Given the description of an element on the screen output the (x, y) to click on. 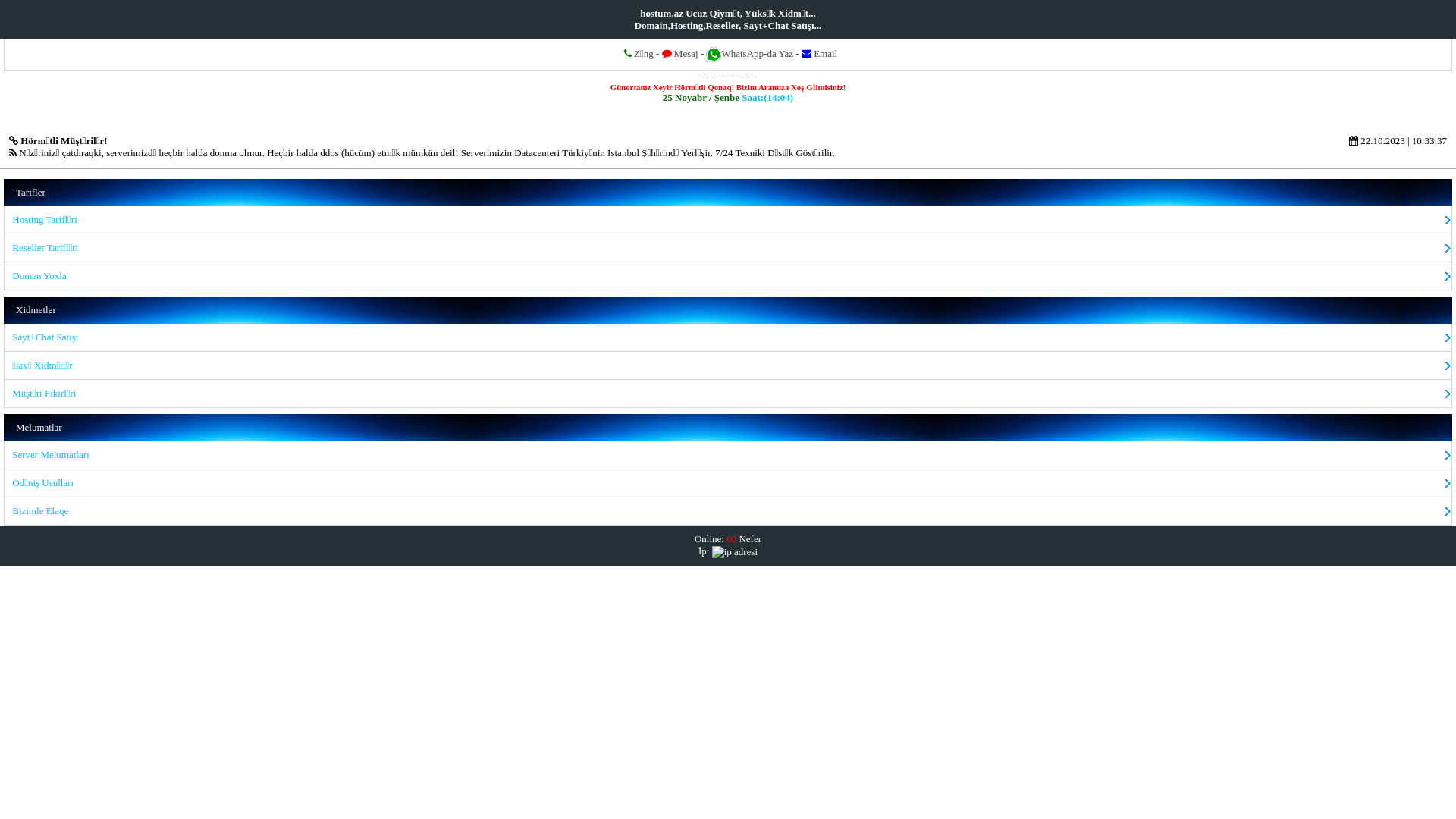
Domen Yoxla Element type: text (727, 276)
Mesaj Element type: text (680, 53)
Email Element type: text (819, 53)
Bizimle Elaqe Element type: text (727, 511)
WhatsApp-da Yaz Element type: text (757, 53)
